Given the description of an element on the screen output the (x, y) to click on. 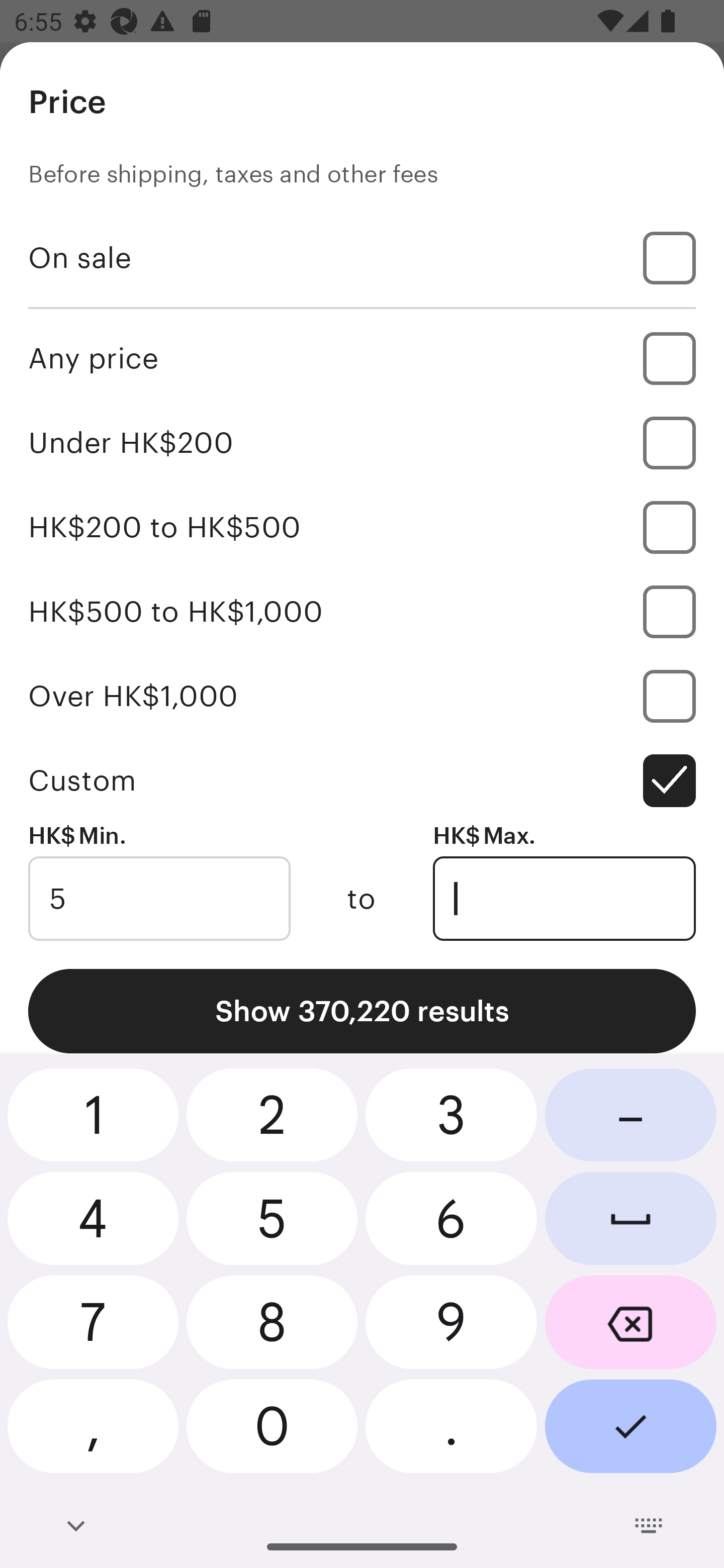
On sale (362, 257)
Any price (362, 357)
Under HK$200 (362, 441)
HK$200 to HK$500 (362, 526)
HK$500 to HK$1,000 (362, 611)
Over HK$1,000 (362, 695)
Custom (362, 780)
5 (159, 898)
Show 370,220 results (361, 1011)
